Given the description of an element on the screen output the (x, y) to click on. 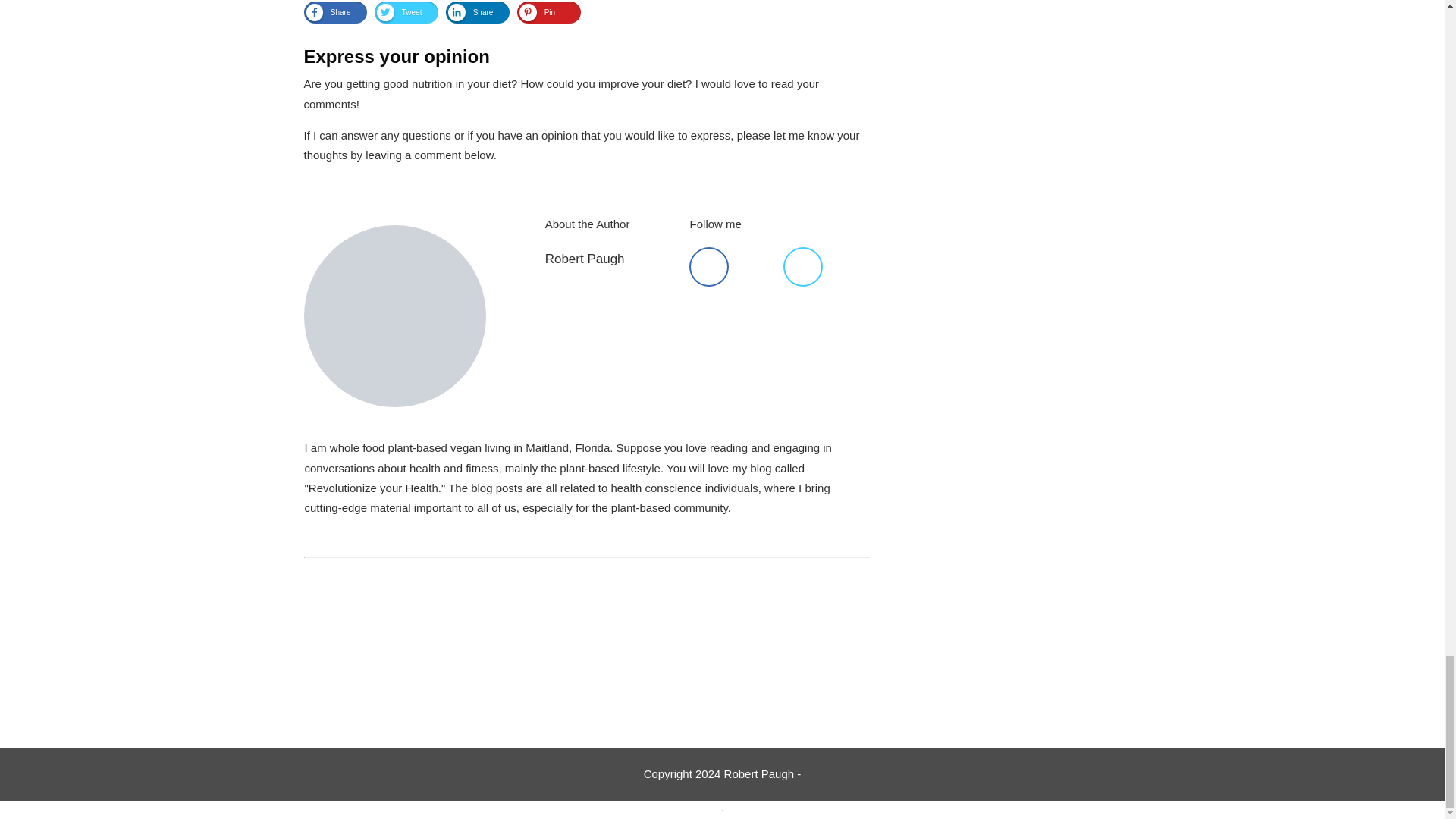
Pin (537, 12)
Share (470, 12)
undefined (393, 316)
Share (328, 12)
Robert Paugh (584, 259)
Tweet (399, 12)
